Given the description of an element on the screen output the (x, y) to click on. 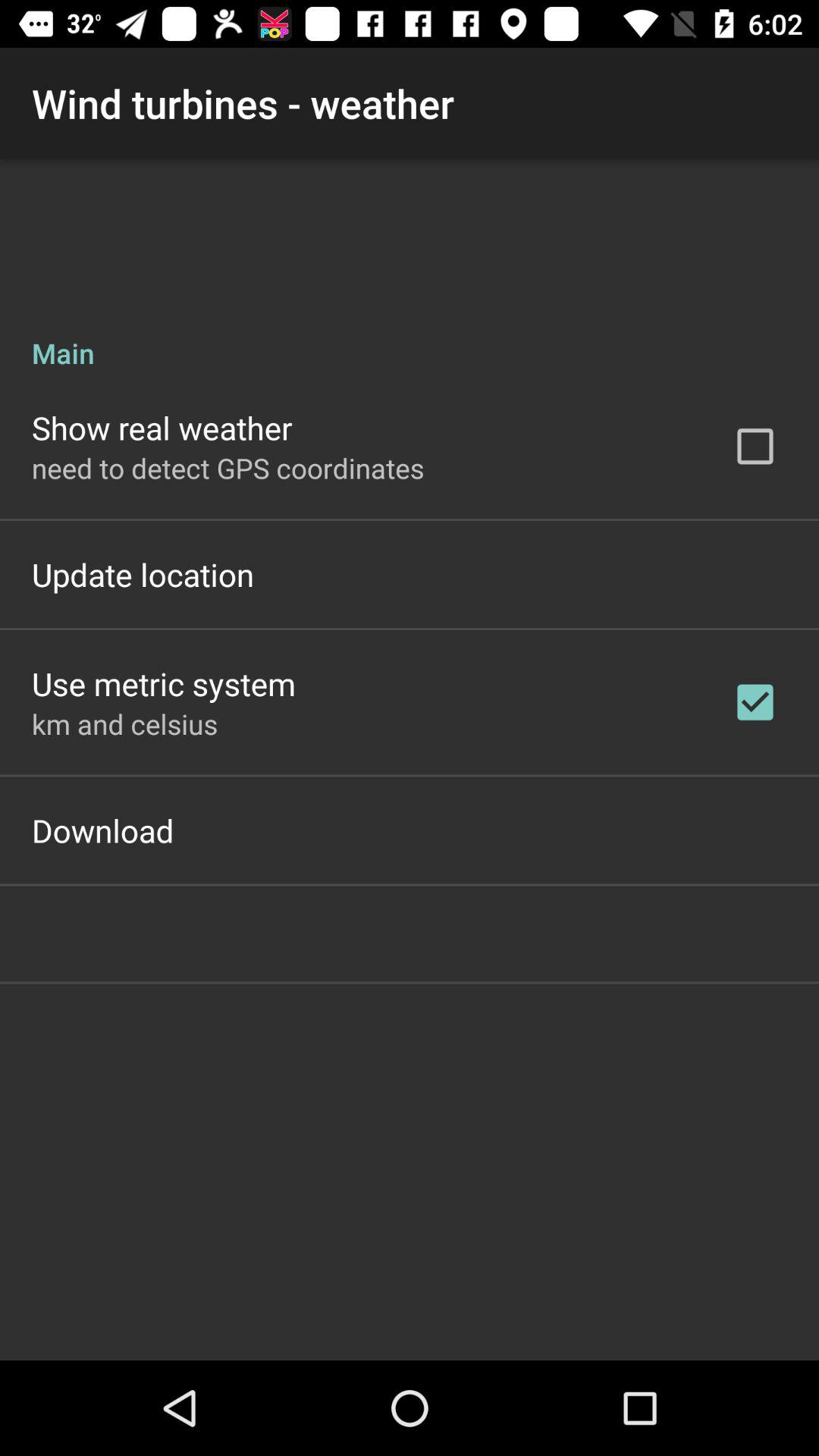
launch app above download app (124, 723)
